Given the description of an element on the screen output the (x, y) to click on. 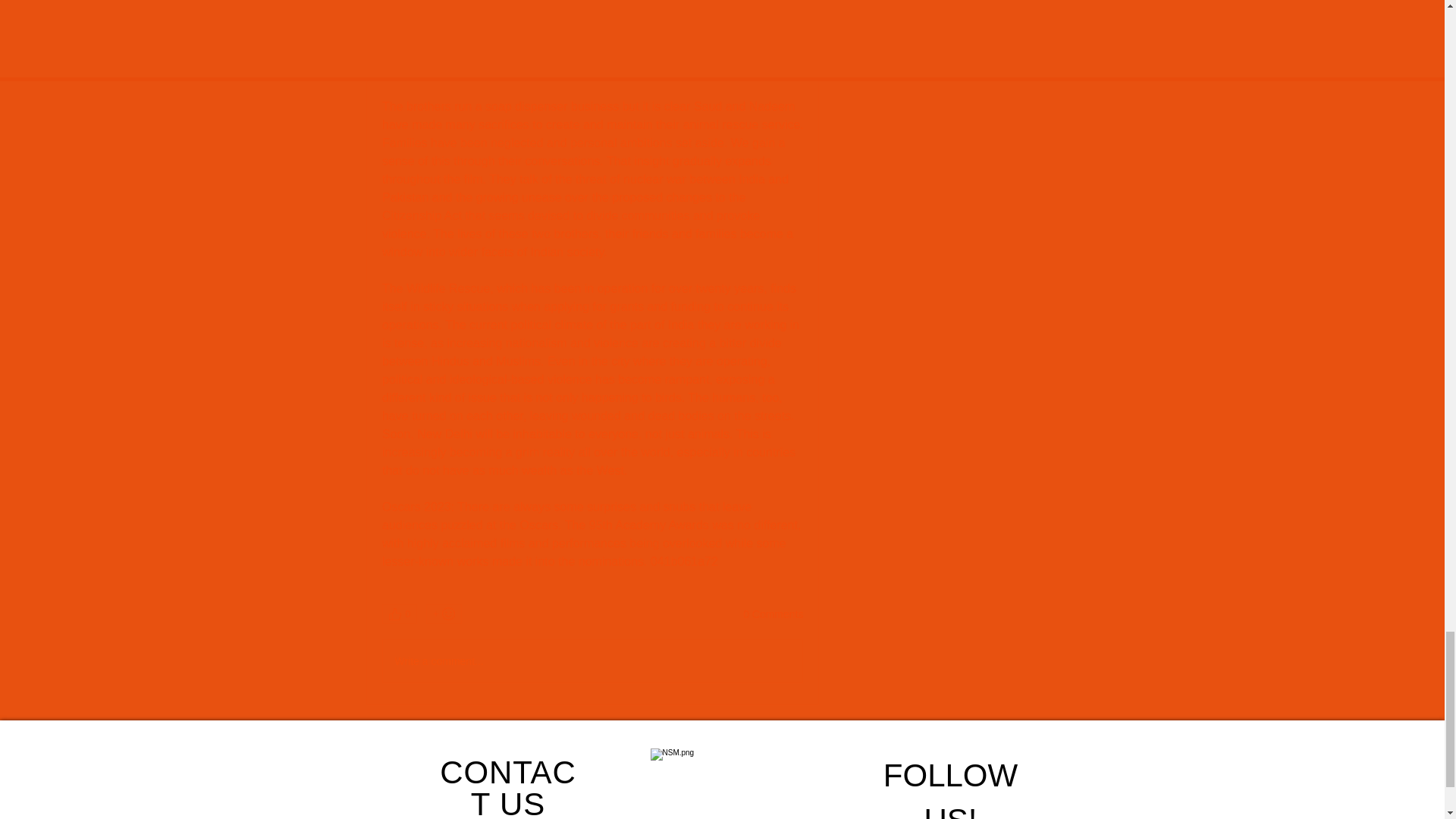
0 Comments (772, 614)
Write a comment... (591, 660)
